Given the description of an element on the screen output the (x, y) to click on. 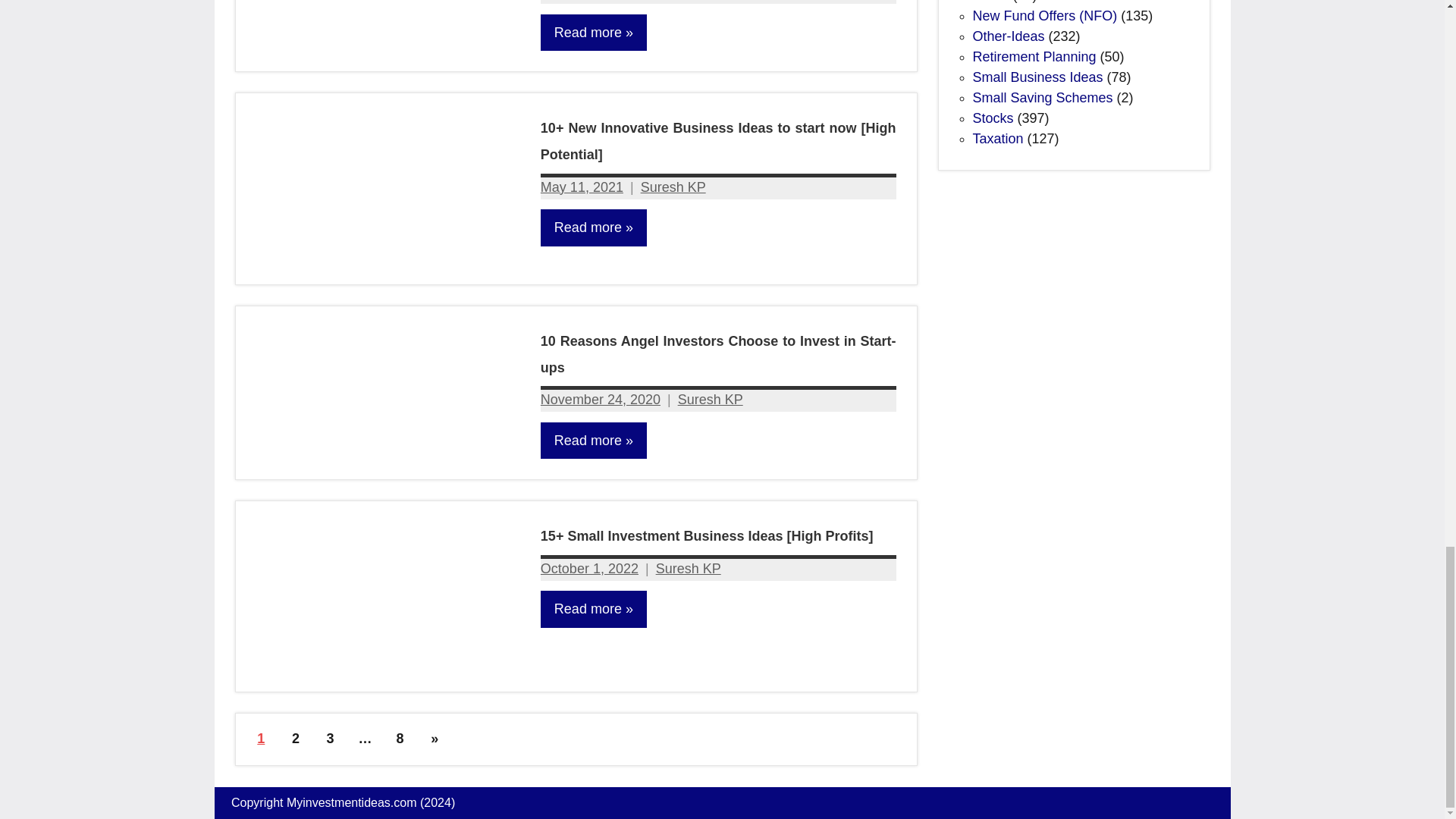
View all posts by Suresh KP (688, 568)
View all posts by Suresh KP (710, 399)
View all posts by Suresh KP (673, 186)
